Given the description of an element on the screen output the (x, y) to click on. 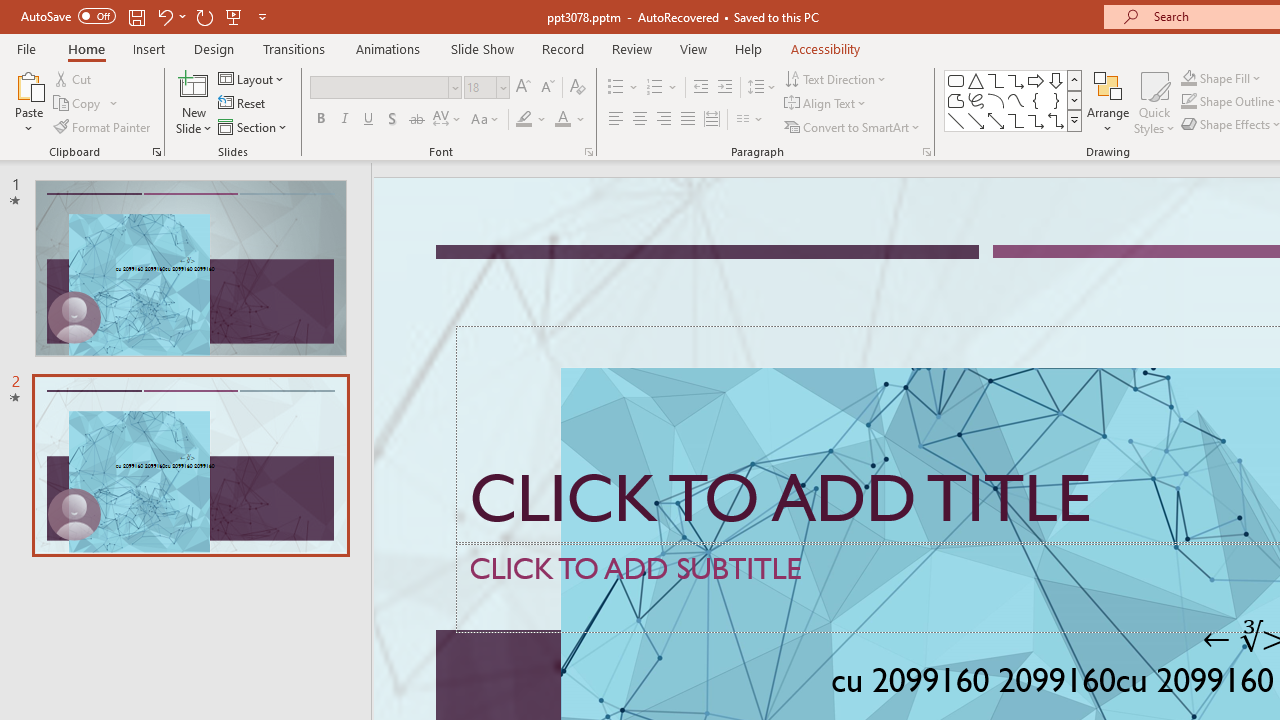
Shape Fill Dark Green, Accent 2 (1188, 78)
